Given the description of an element on the screen output the (x, y) to click on. 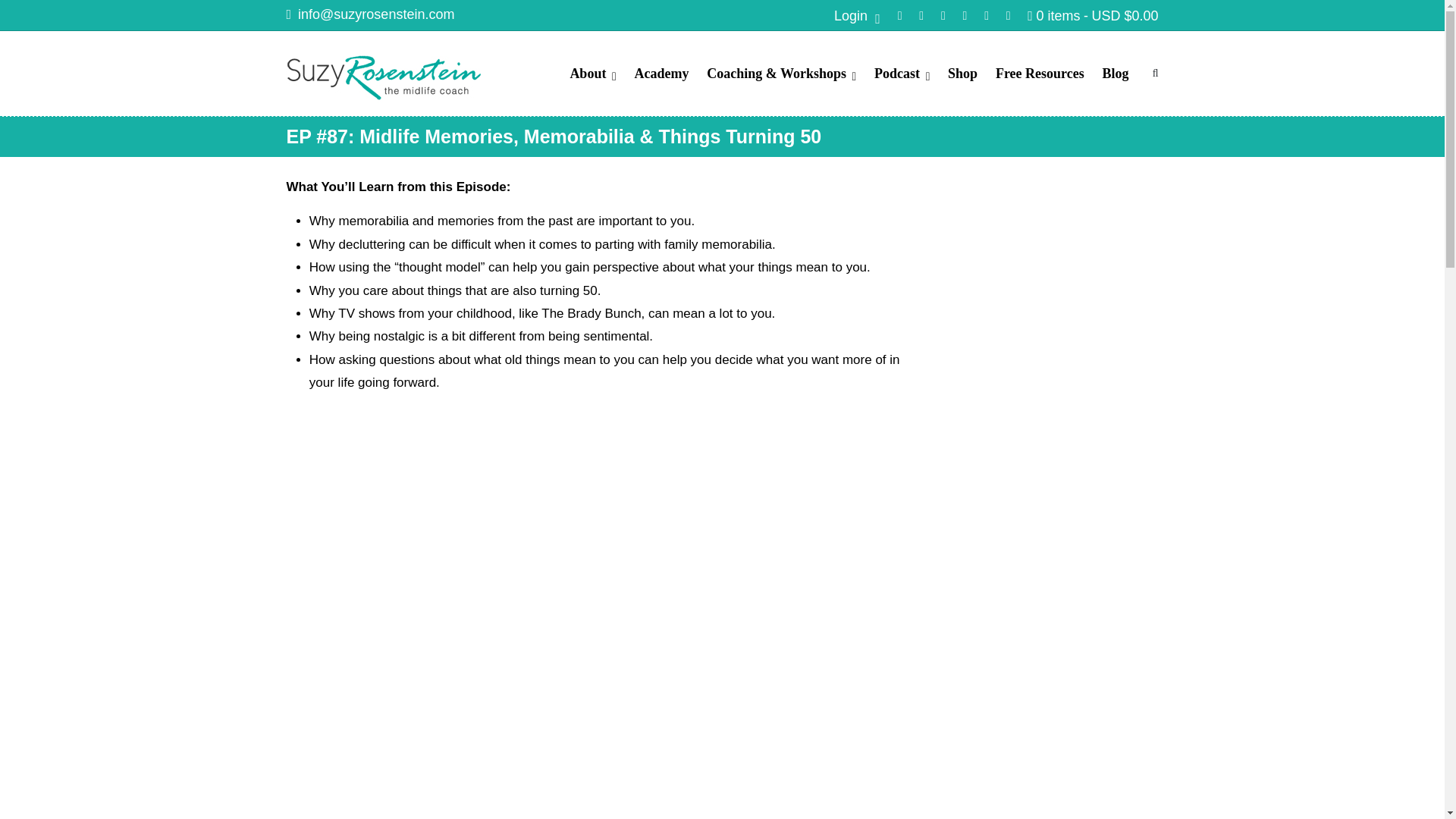
Start shopping (1092, 15)
Free Resources (1039, 73)
Login (857, 15)
